Given the description of an element on the screen output the (x, y) to click on. 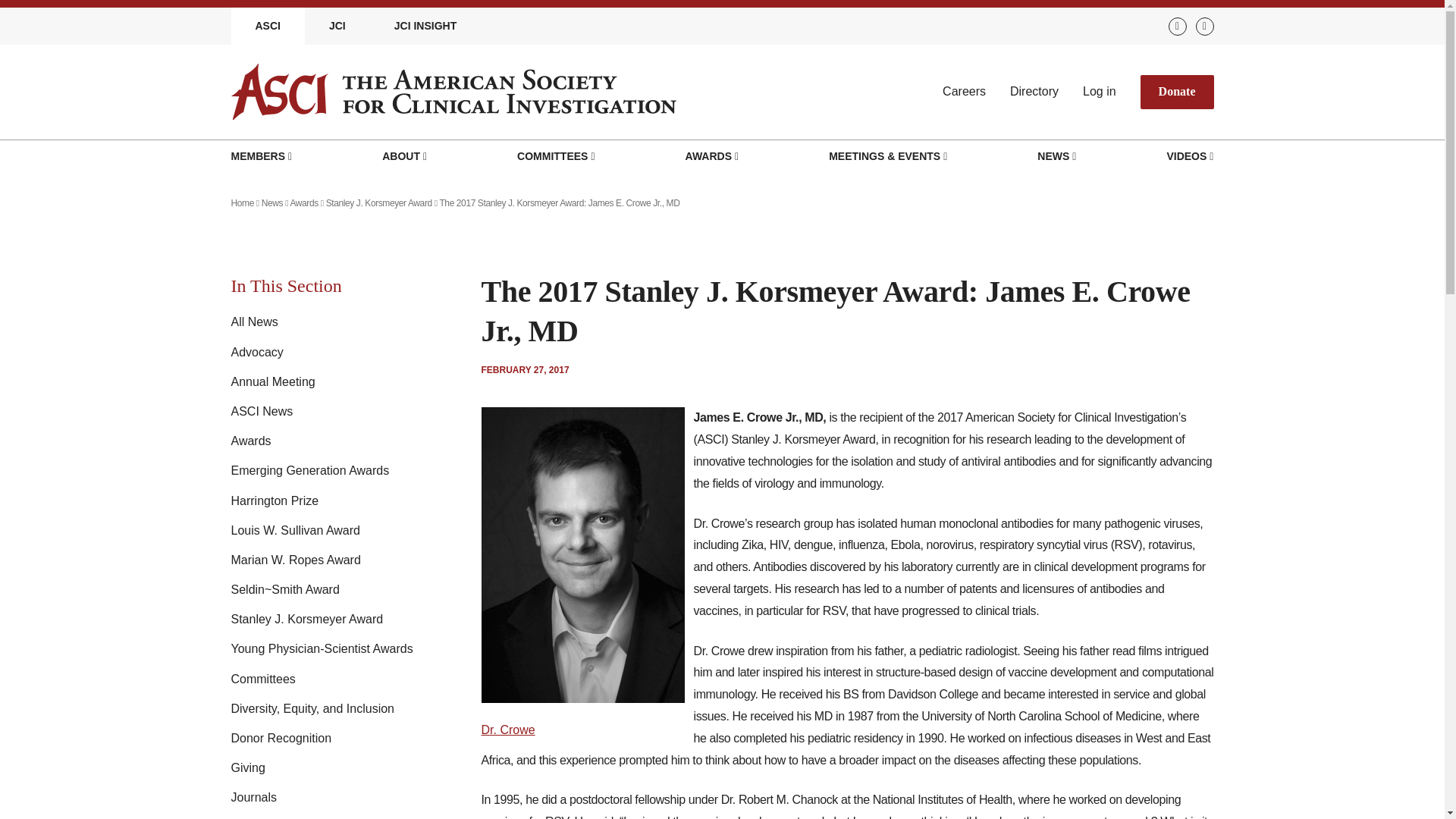
Careers (963, 91)
Directory (1034, 91)
JCI INSIGHT (425, 25)
Donate (1177, 91)
JCI (337, 25)
Log in (1099, 91)
